Given the description of an element on the screen output the (x, y) to click on. 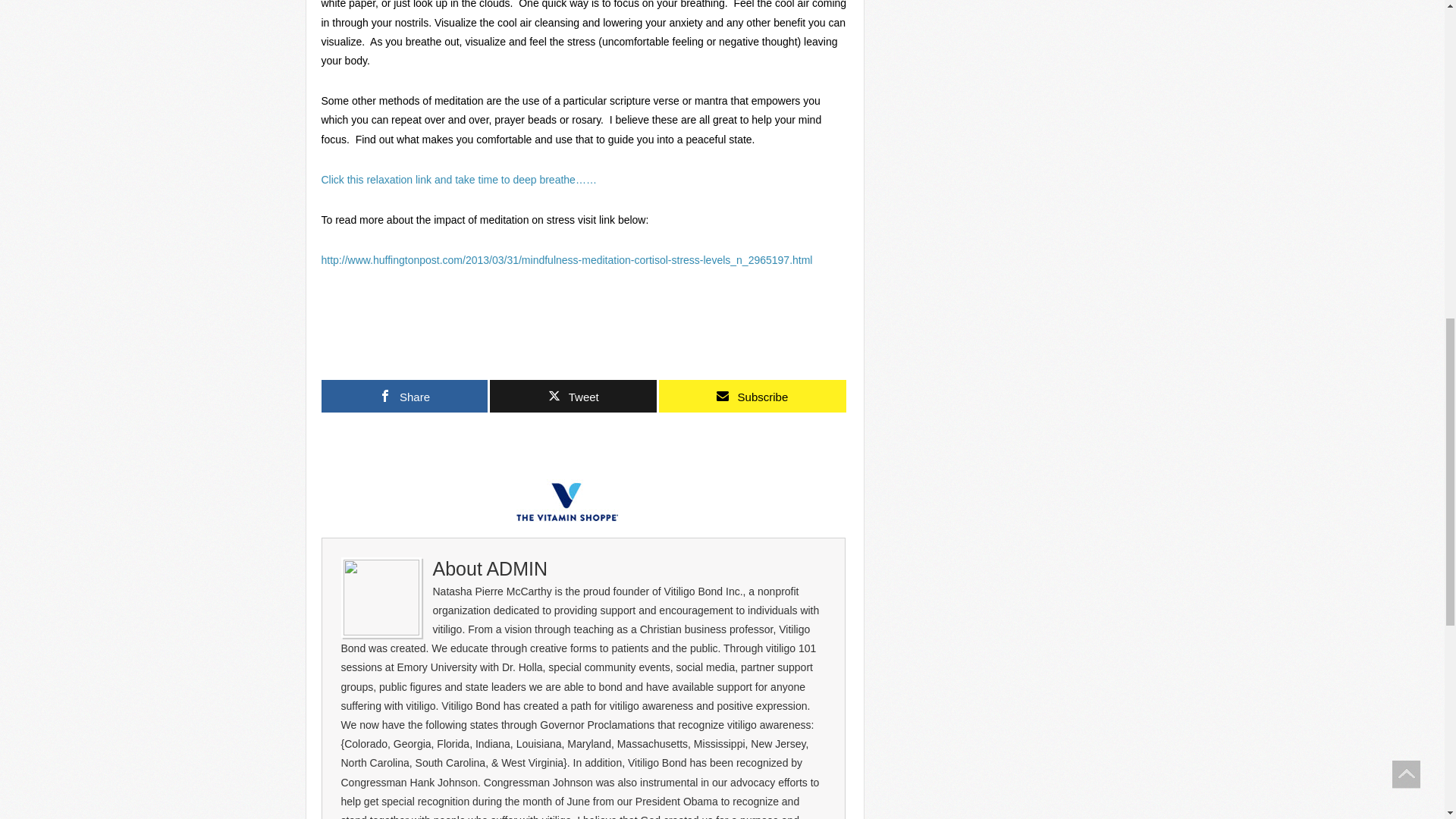
Posts by admin (516, 568)
